Given the description of an element on the screen output the (x, y) to click on. 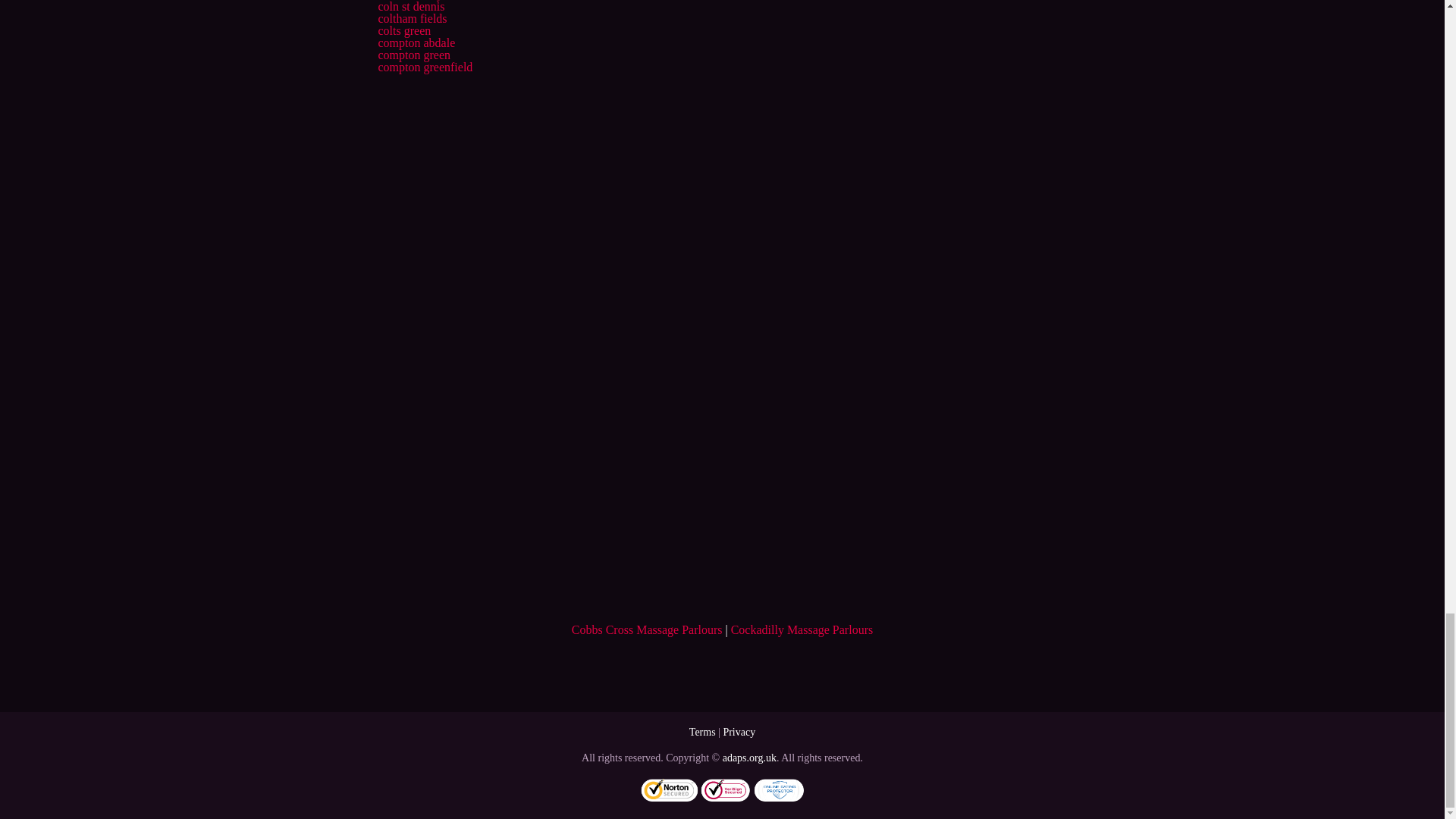
compton green (413, 54)
colts green (403, 30)
coln st dennis (410, 6)
adaps.org.uk (749, 757)
Terms (702, 731)
Cockadilly Massage Parlours (801, 629)
compton abdale (415, 42)
Privacy (738, 731)
Cobbs Cross Massage Parlours (647, 629)
